Given the description of an element on the screen output the (x, y) to click on. 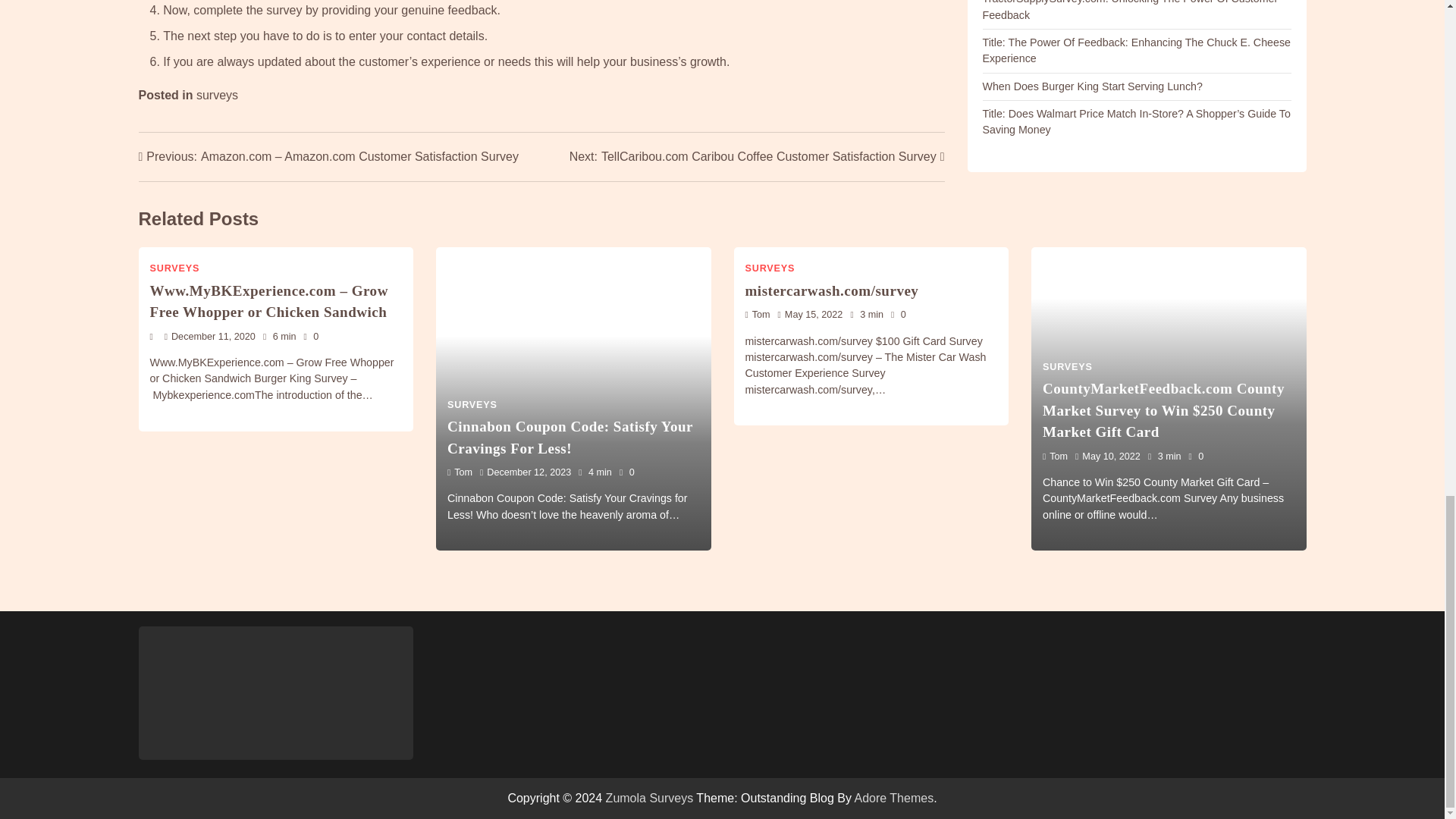
When Does Burger King Start Serving Lunch? (1092, 86)
surveys (217, 94)
